Given the description of an element on the screen output the (x, y) to click on. 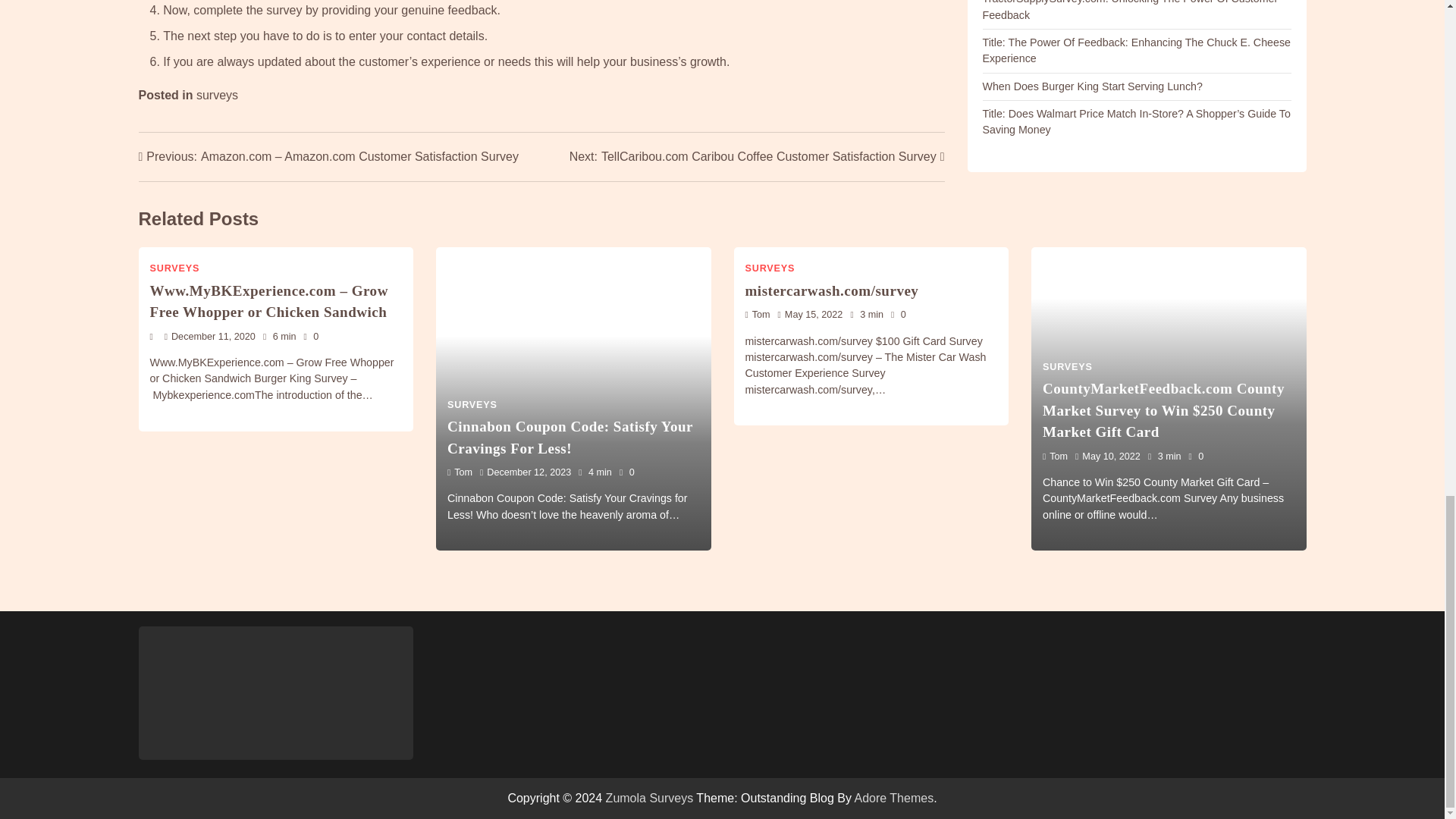
When Does Burger King Start Serving Lunch? (1092, 86)
surveys (217, 94)
